Given the description of an element on the screen output the (x, y) to click on. 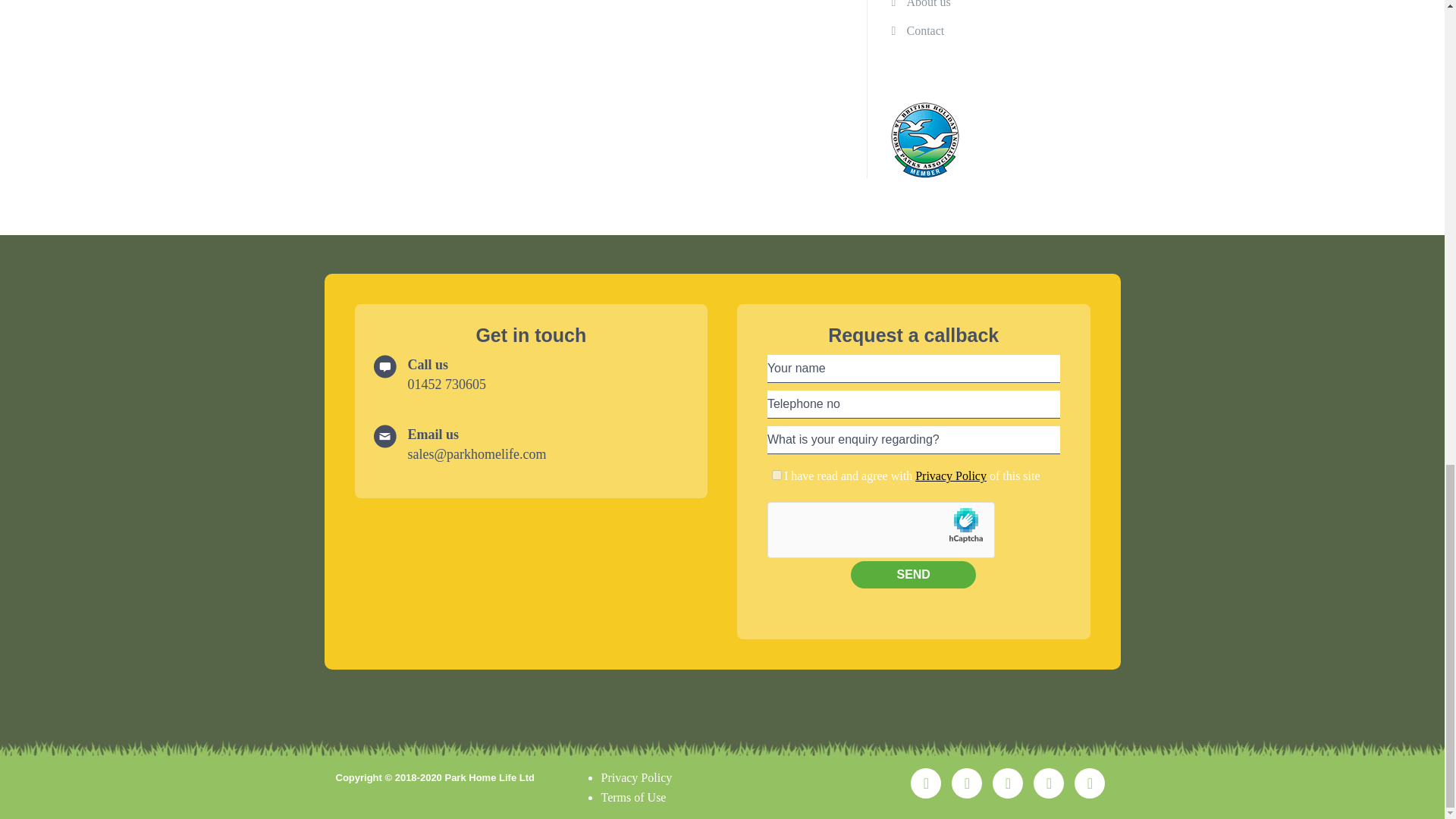
Instagram (1048, 783)
Google Plus (966, 783)
Facebook (1007, 783)
Twitter (1089, 783)
Youtube (925, 783)
Send (912, 574)
